Given the description of an element on the screen output the (x, y) to click on. 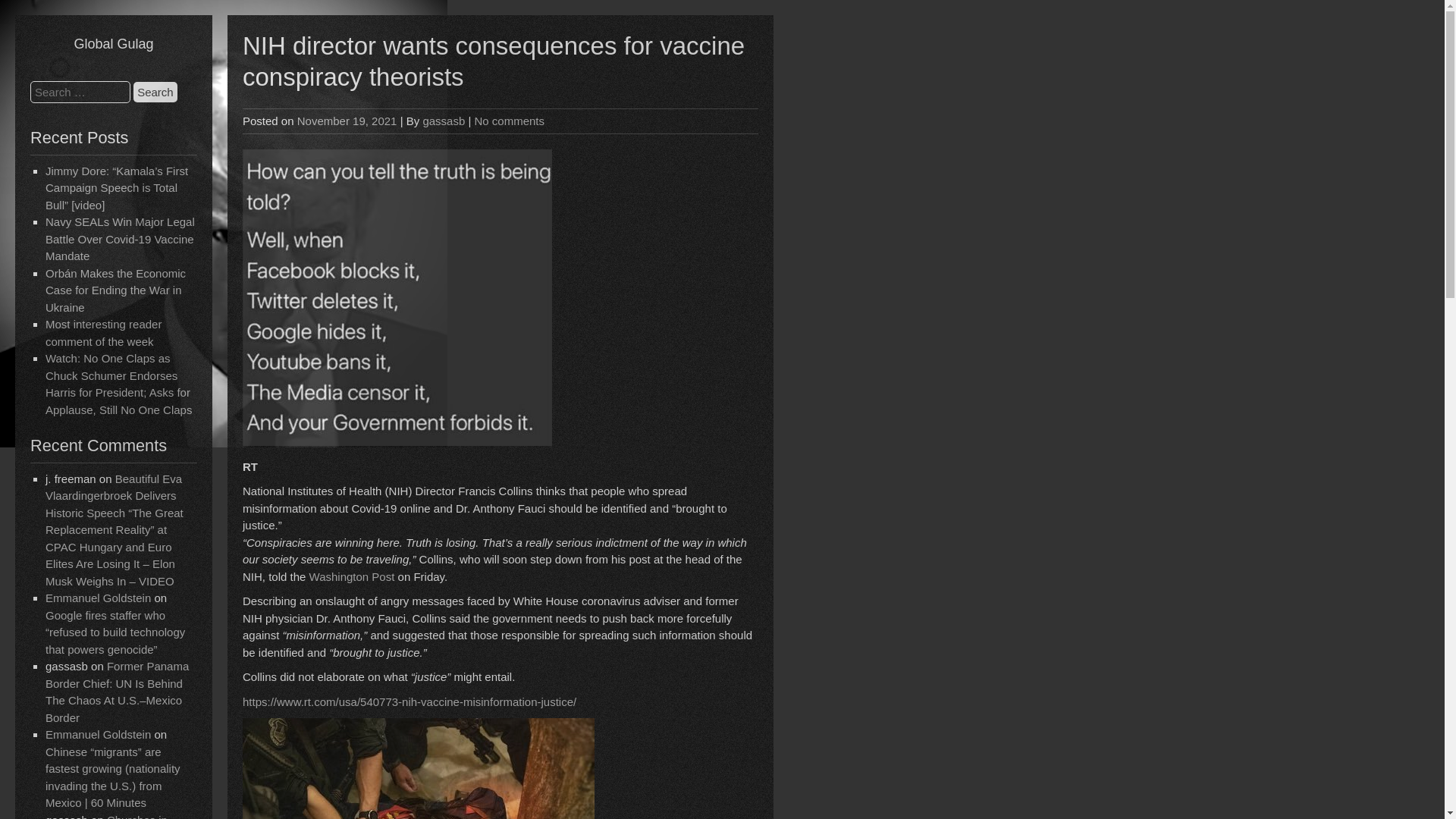
Search (155, 91)
Most interesting reader comment of the week (103, 332)
Search (155, 91)
Emmanuel Goldstein (98, 734)
Emmanuel Goldstein (98, 597)
Search (155, 91)
